Given the description of an element on the screen output the (x, y) to click on. 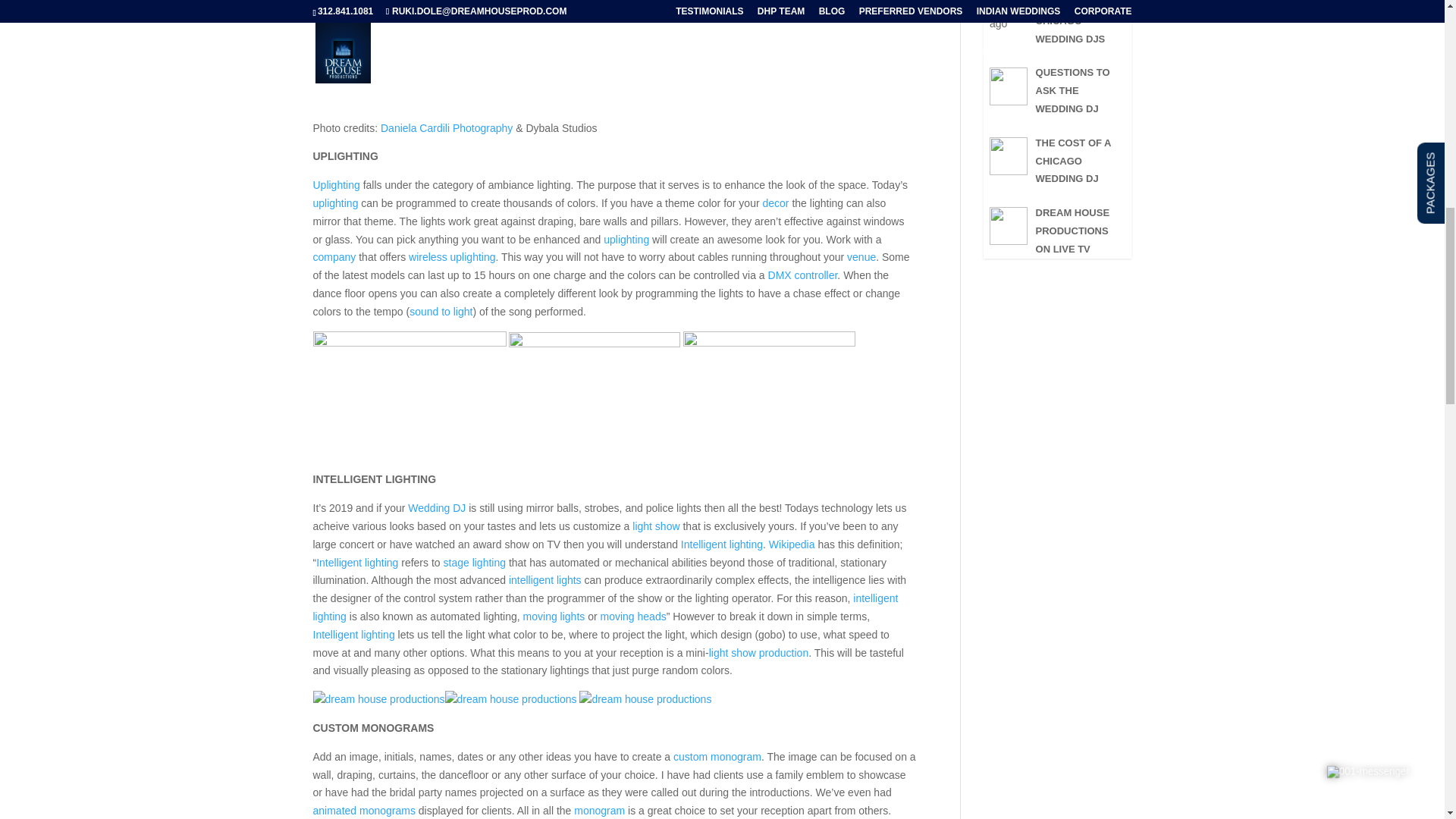
Daniela Cardili Photography (446, 128)
uplighting (626, 239)
uplighting (335, 203)
Uplighting (336, 184)
decor (775, 203)
company (334, 256)
